Given the description of an element on the screen output the (x, y) to click on. 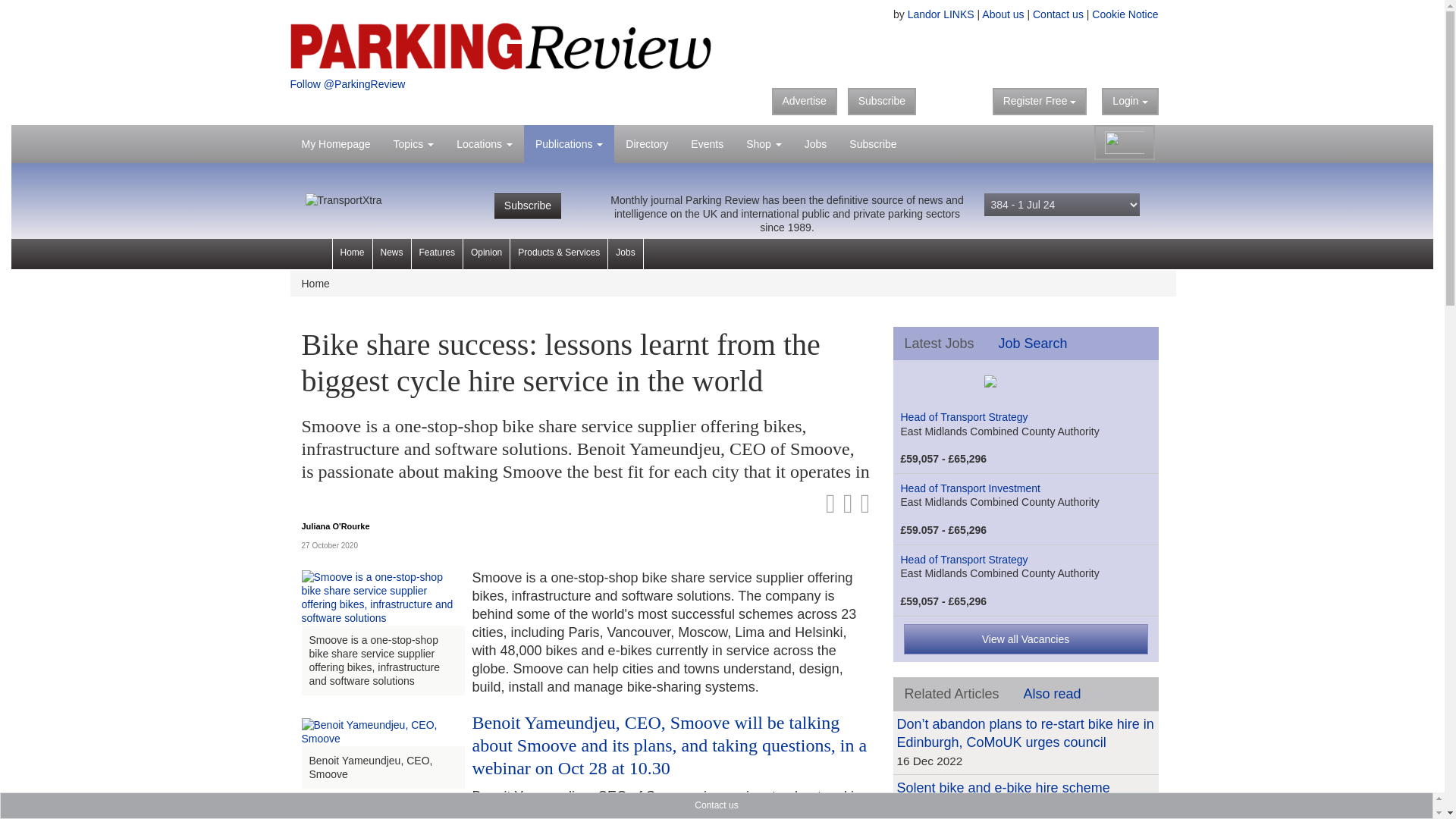
Advertise (804, 101)
Read more about Solent bike and e-bike hire scheme launched (1002, 797)
Parking Review (499, 45)
About us (1002, 14)
Login (1129, 101)
Benoit Yameundjeu, CEO, Smoove (382, 731)
Landor LINKS (940, 14)
Locations (484, 143)
Register Free (1039, 101)
Topics (413, 143)
Contact us (1057, 14)
My Homepage (335, 143)
Cookie Notice (1124, 14)
Subscribe (881, 101)
